Given the description of an element on the screen output the (x, y) to click on. 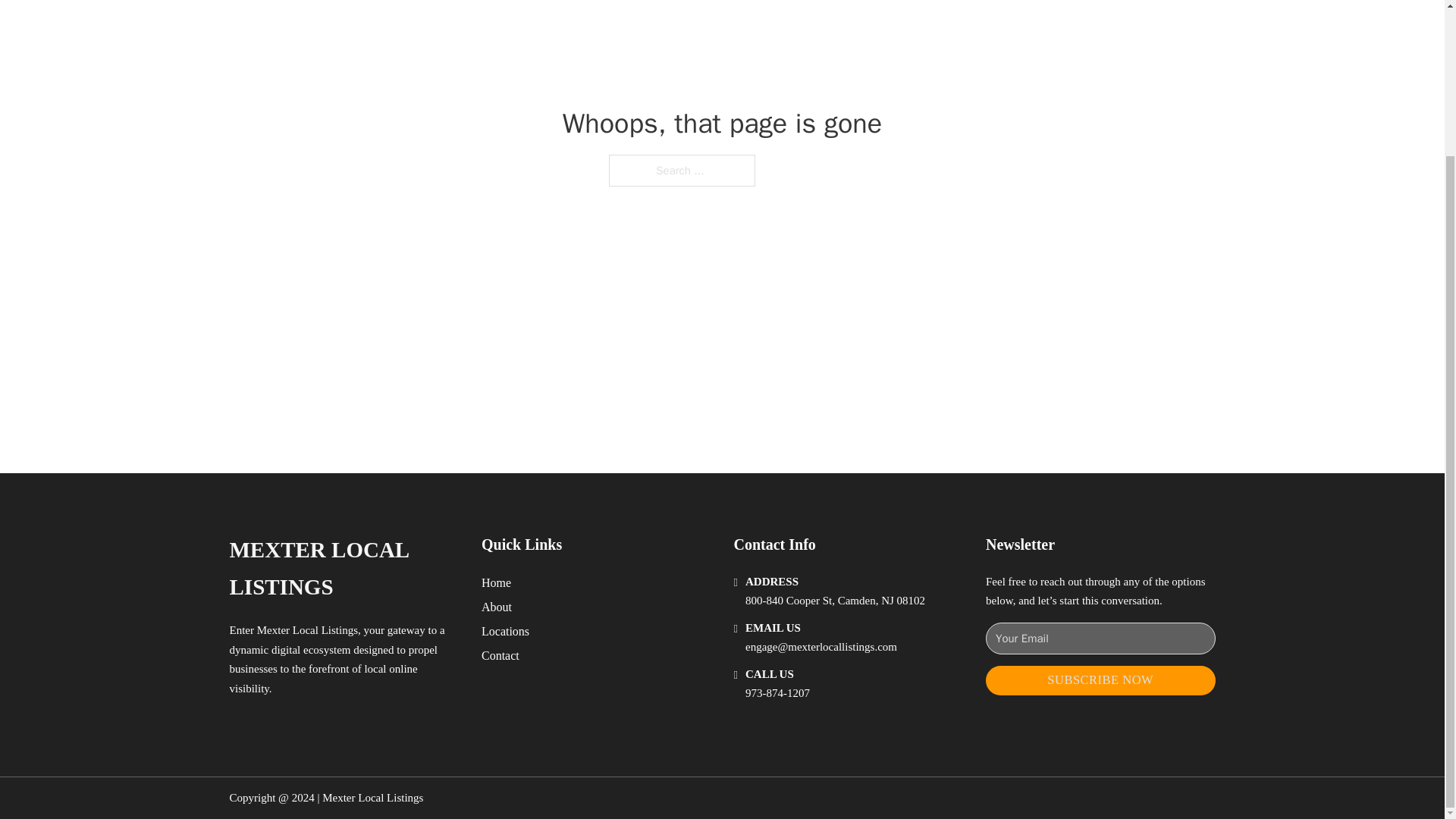
Home (496, 582)
Locations (505, 630)
973-874-1207 (777, 693)
MEXTER LOCAL LISTINGS (343, 568)
About (496, 607)
SUBSCRIBE NOW (1100, 680)
Contact (500, 655)
